Given the description of an element on the screen output the (x, y) to click on. 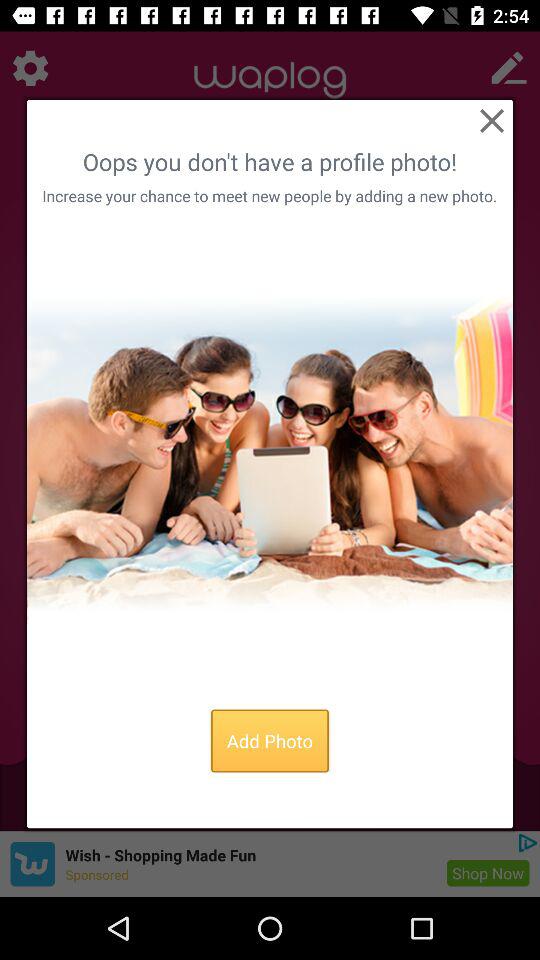
choose item at the bottom (269, 740)
